Given the description of an element on the screen output the (x, y) to click on. 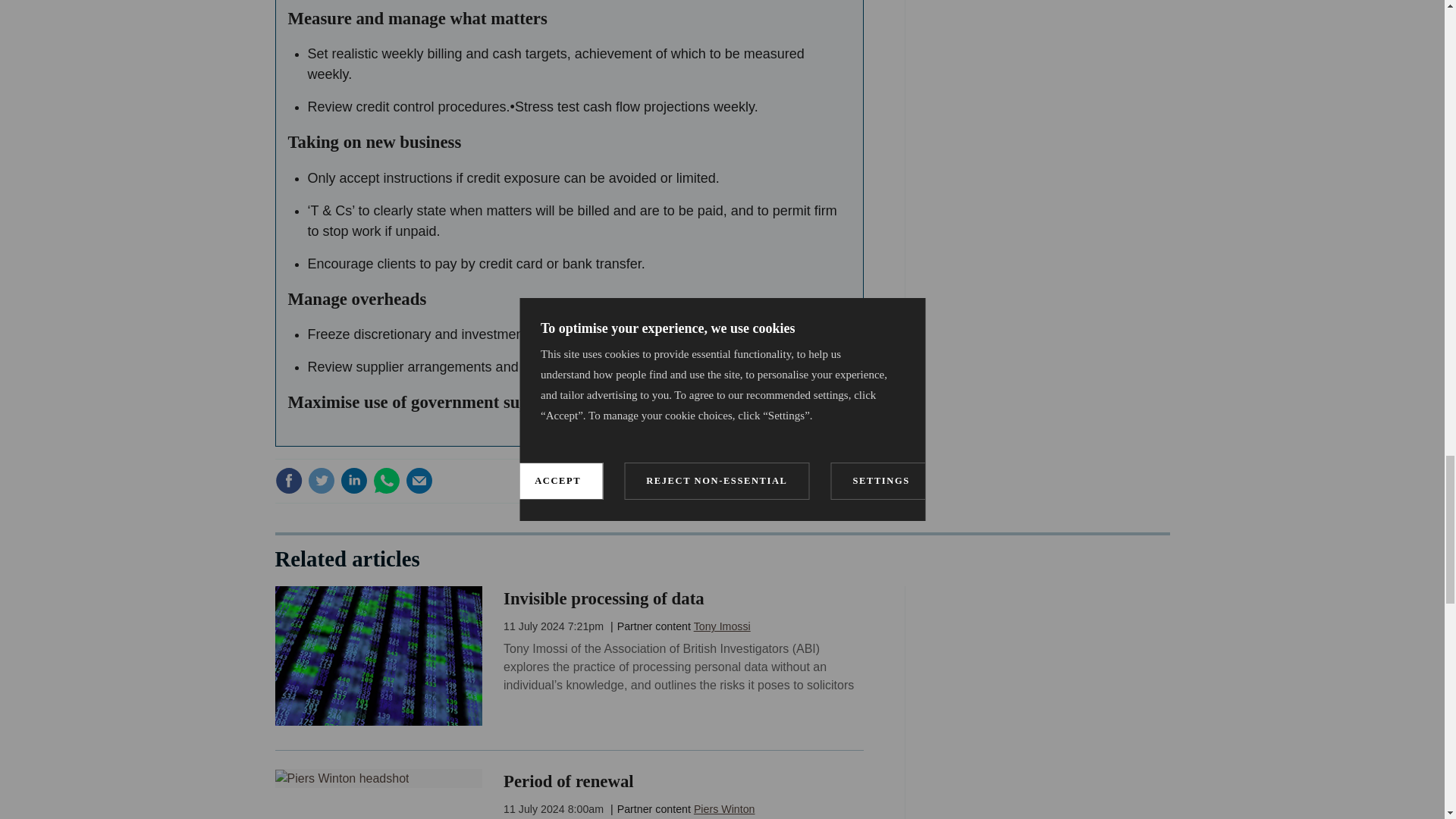
Email this article (418, 480)
Share this on Linked in (352, 480)
Share this on Whatsapp (386, 480)
Share this on Twitter (320, 480)
Share this on Facebook (288, 480)
